Given the description of an element on the screen output the (x, y) to click on. 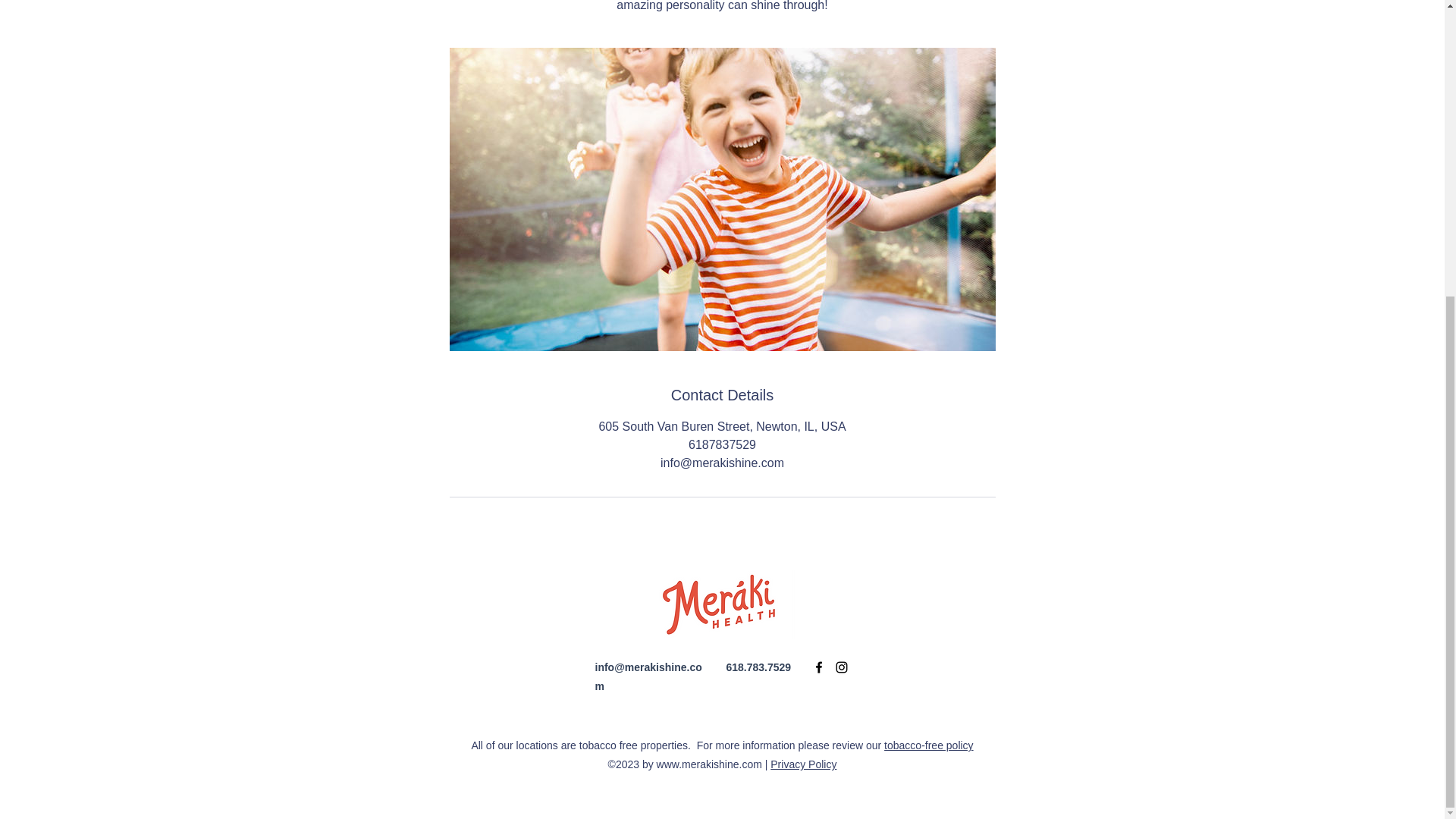
tobacco-free policy (928, 745)
www.merakishine.com (708, 764)
Privacy Policy (802, 764)
618.783.7529 (759, 666)
